Given the description of an element on the screen output the (x, y) to click on. 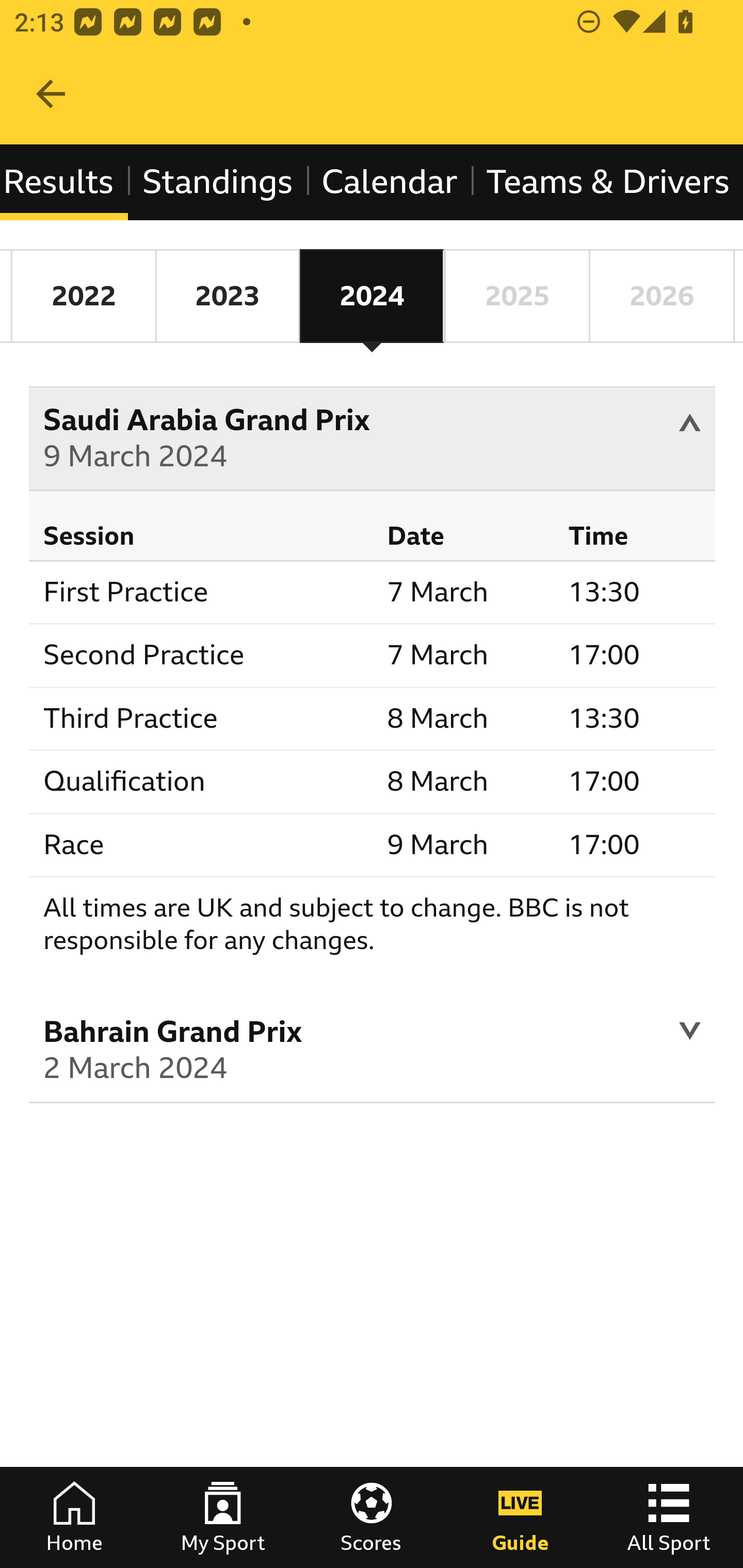
Navigate up (50, 93)
Results (65, 181)
Standings (217, 181)
Calendar (389, 181)
Teams & Drivers (607, 181)
2022 (83, 296)
2023 (227, 296)
2024, Selected 2024 , Selected (371, 296)
Bahrain Grand Prix, Bahrain IC 2 March 2024 (372, 1052)
Home (74, 1517)
My Sport (222, 1517)
Scores (371, 1517)
All Sport (668, 1517)
